Given the description of an element on the screen output the (x, y) to click on. 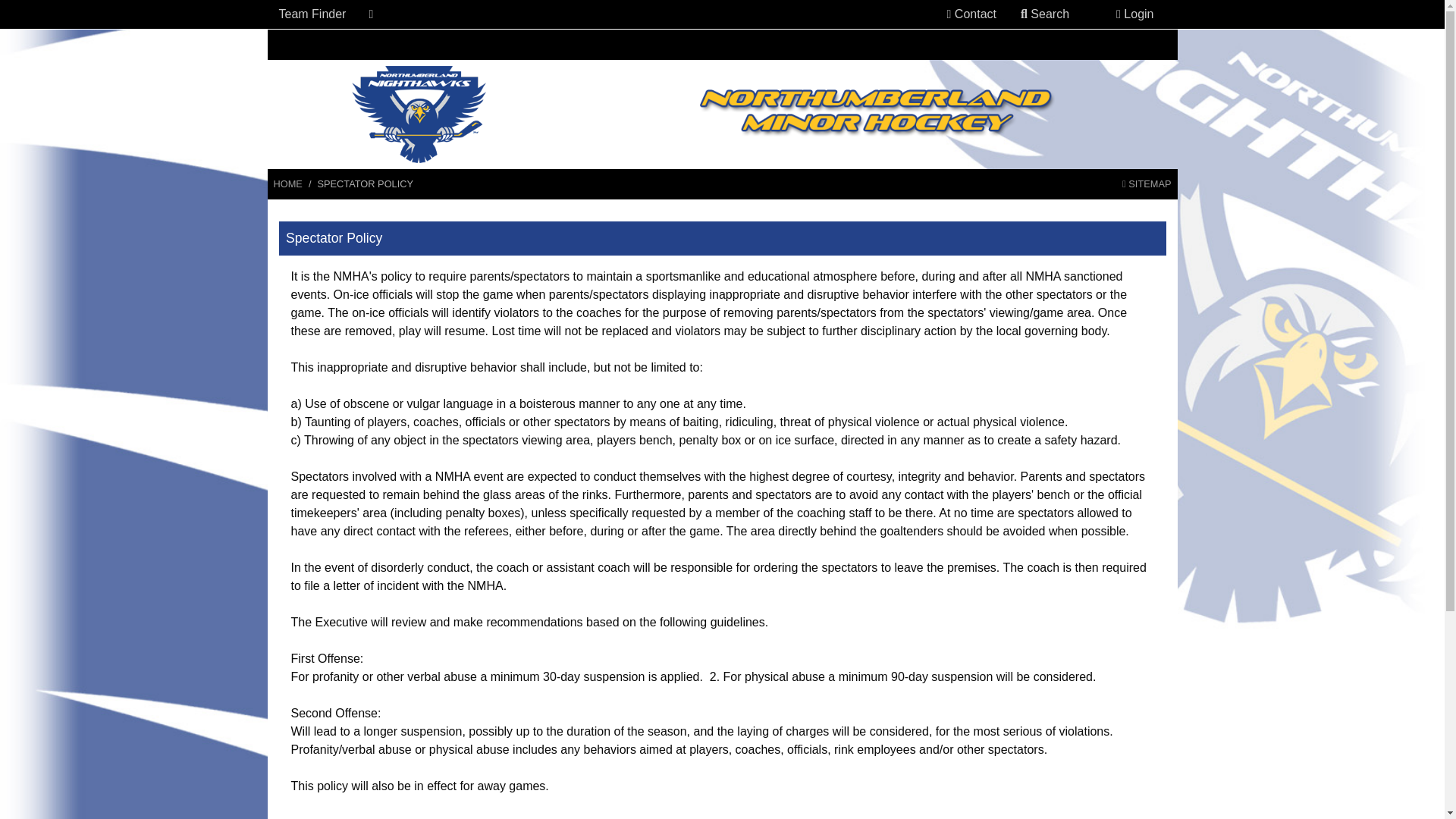
 Contact (971, 14)
Team Finder (312, 13)
 Login (1134, 14)
 Search (1045, 14)
Main Home Page (287, 183)
